Given the description of an element on the screen output the (x, y) to click on. 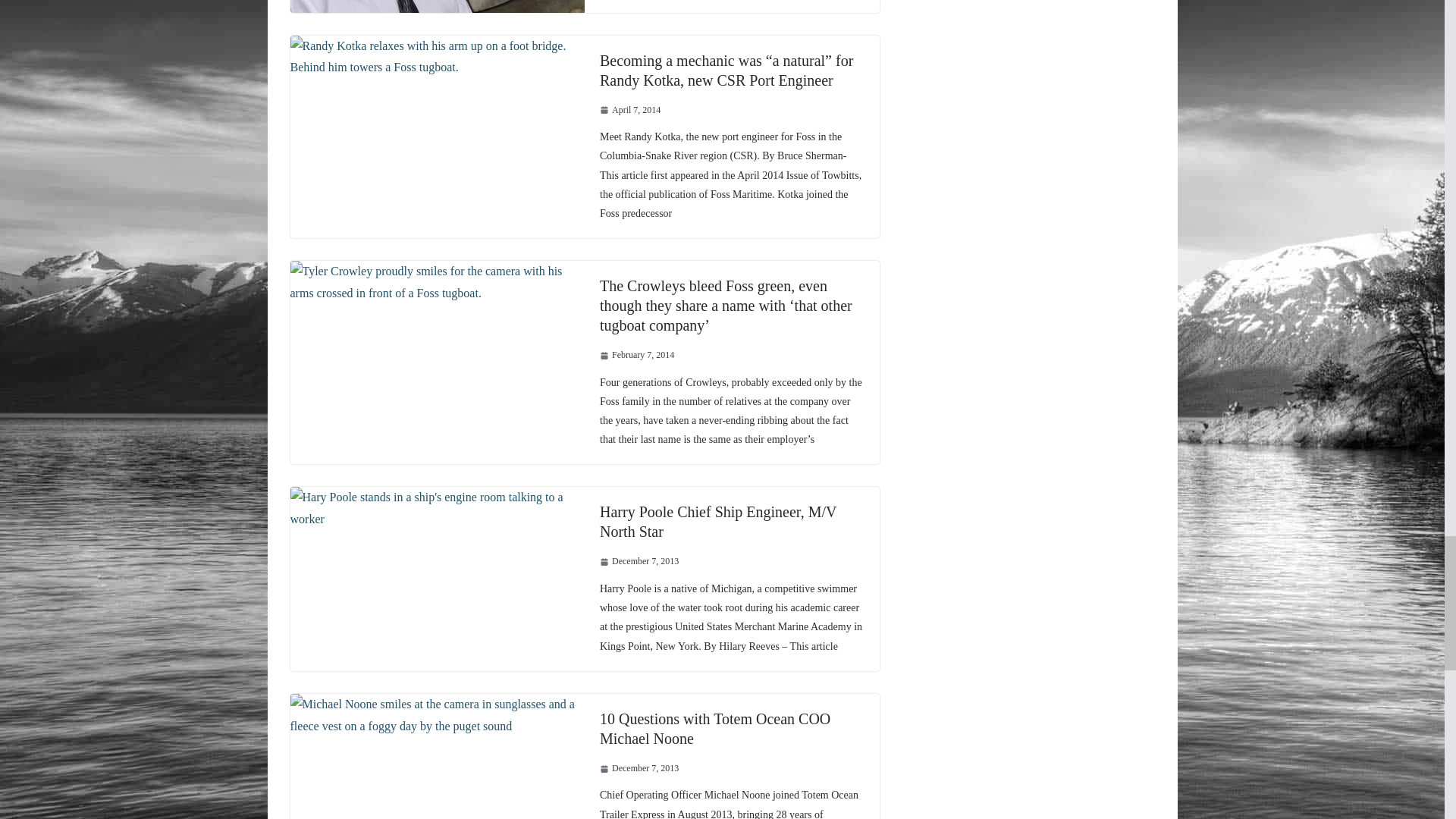
10:08 pm (630, 110)
10:44 pm (636, 355)
April 7, 2014 (630, 110)
